Given the description of an element on the screen output the (x, y) to click on. 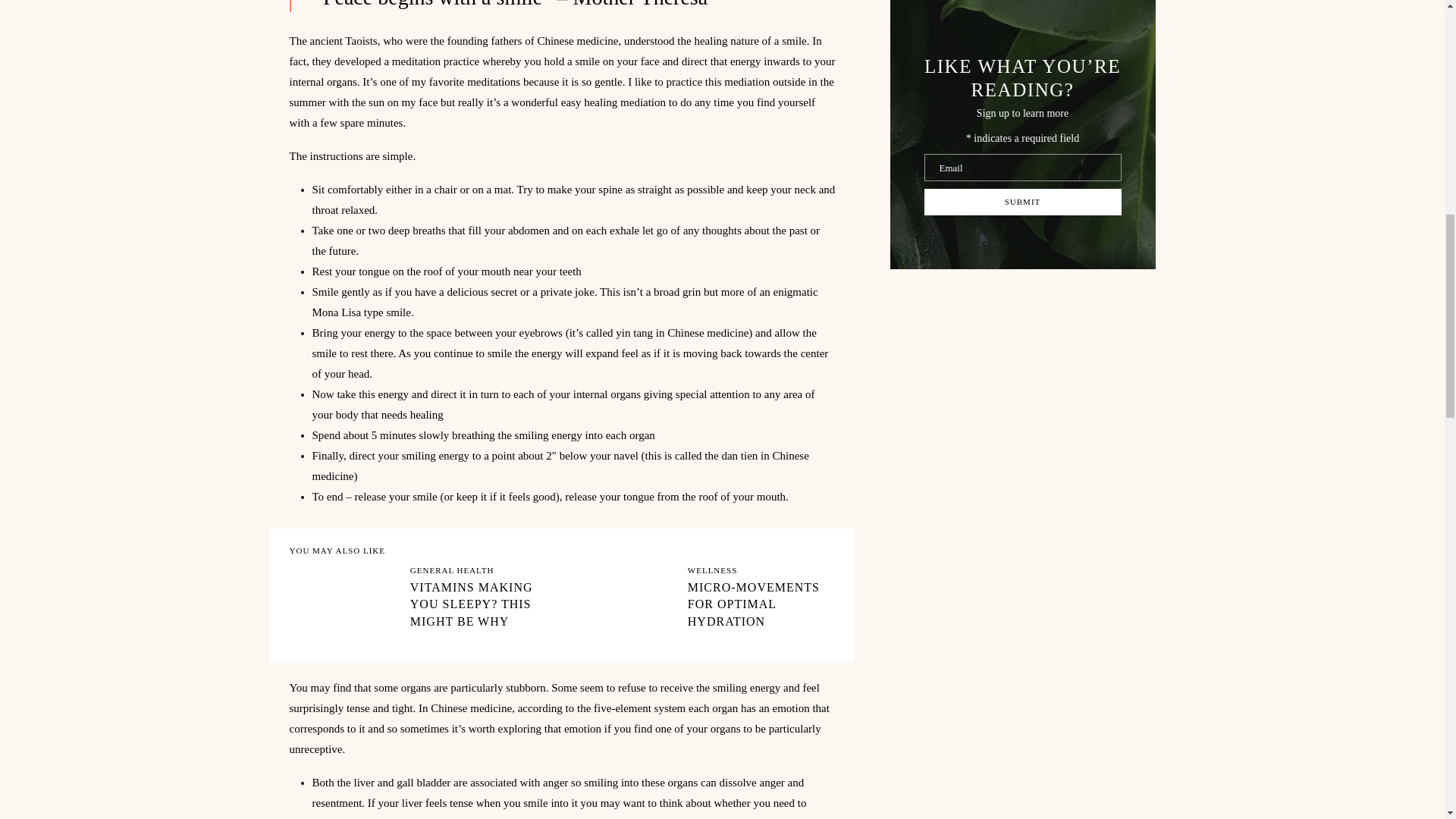
Micro-movements for Optimal Hydration (701, 602)
Vitamins Making You Sleepy? This Might Be Why (423, 602)
Submit (1022, 202)
